Given the description of an element on the screen output the (x, y) to click on. 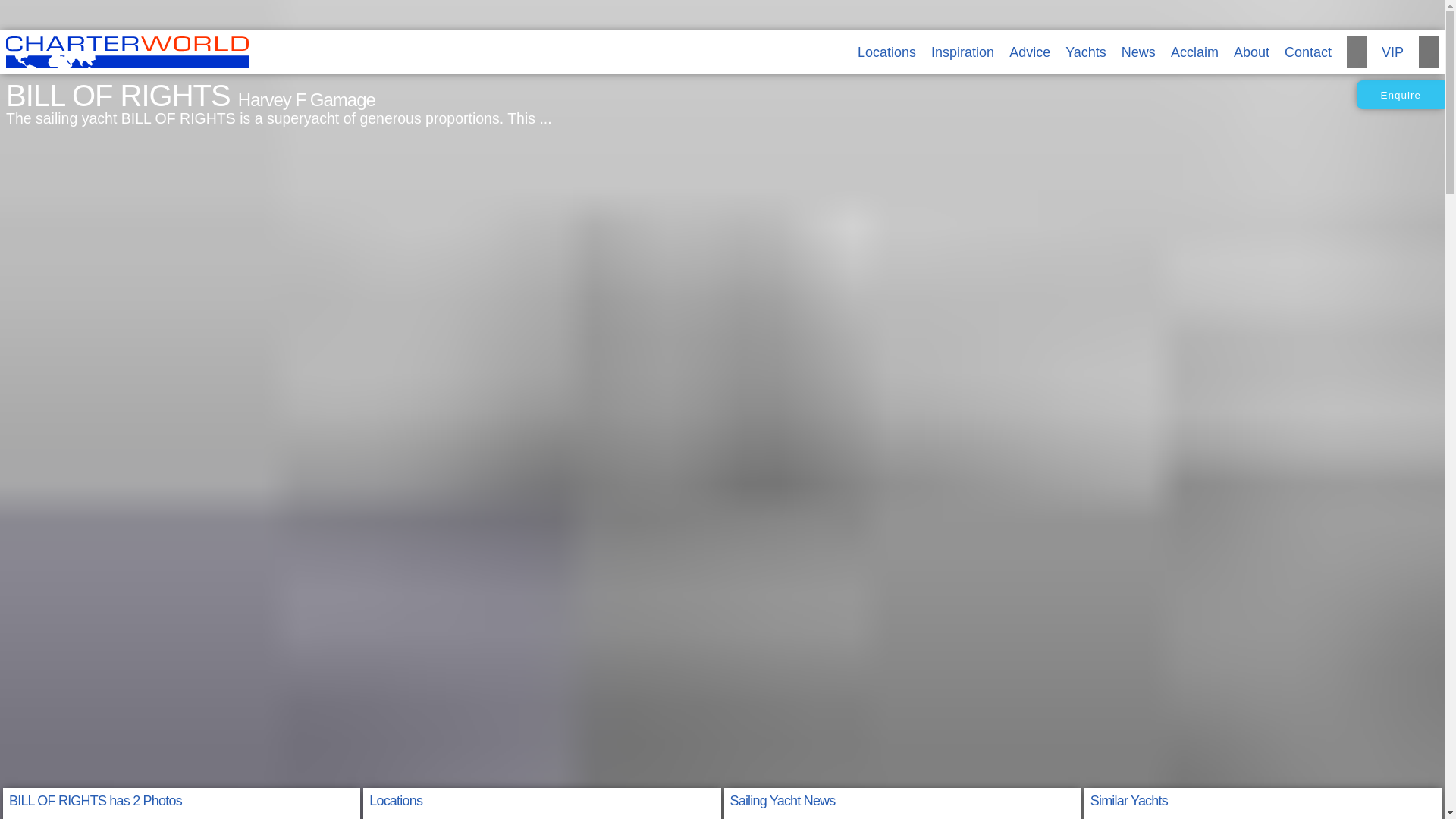
Advice (1029, 51)
Locations (886, 51)
Acclaim (1194, 51)
Yachts (1085, 51)
Contact (1308, 51)
News (1138, 51)
Sailing Yacht News (781, 800)
Inspiration (962, 51)
About (1251, 51)
